Given the description of an element on the screen output the (x, y) to click on. 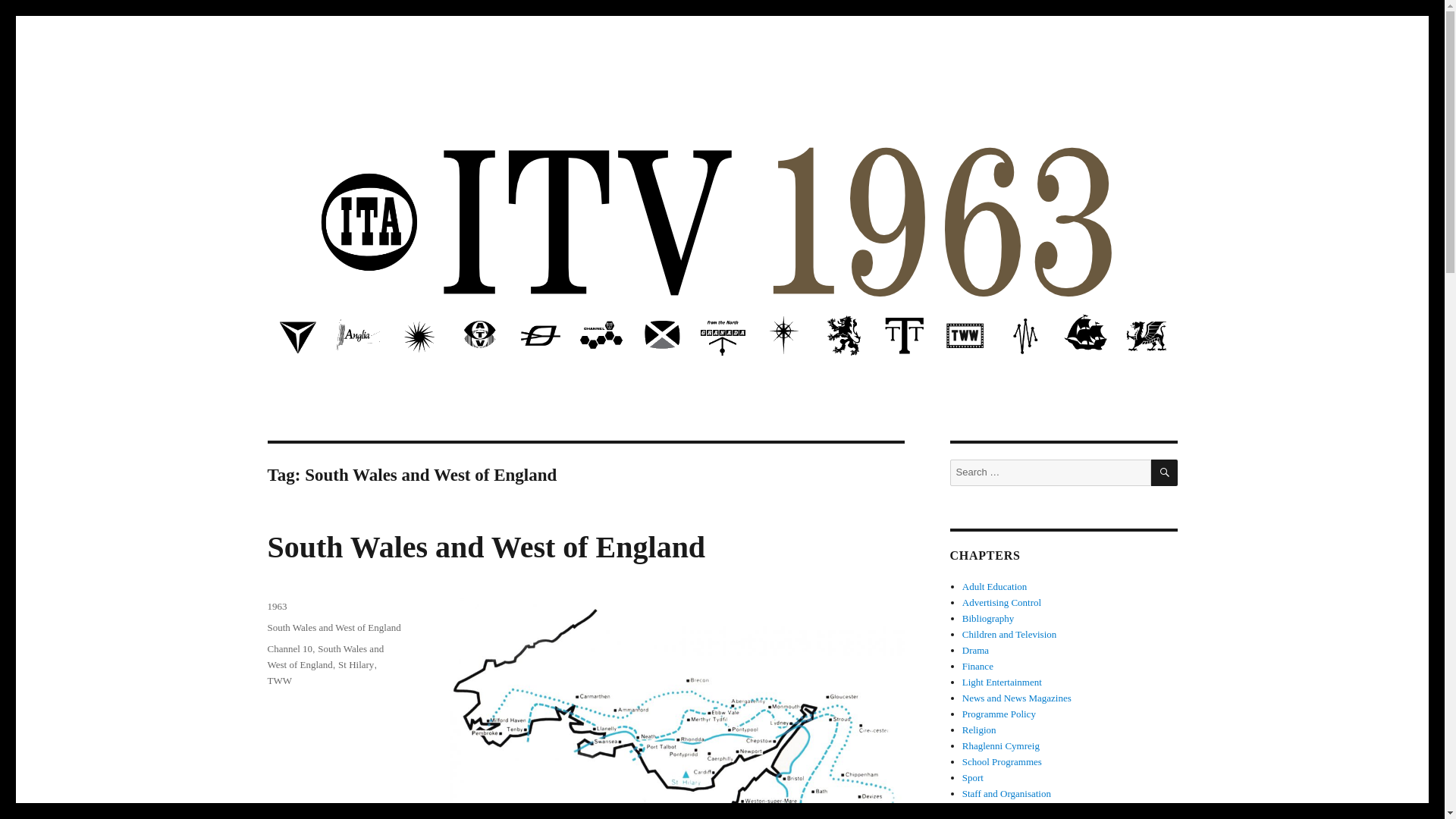
1963 (276, 605)
South Wales and West of England (325, 656)
Programme Policy (998, 713)
TWW (278, 680)
South Wales and West of England (333, 627)
School Programmes (1002, 761)
News and News Magazines (1016, 697)
South Wales and West of England (485, 546)
St Hilary (355, 664)
Adult Education (994, 586)
Children and Television (1009, 633)
Light Entertainment (1002, 681)
Finance (977, 665)
Drama (975, 650)
Bibliography (988, 618)
